Given the description of an element on the screen output the (x, y) to click on. 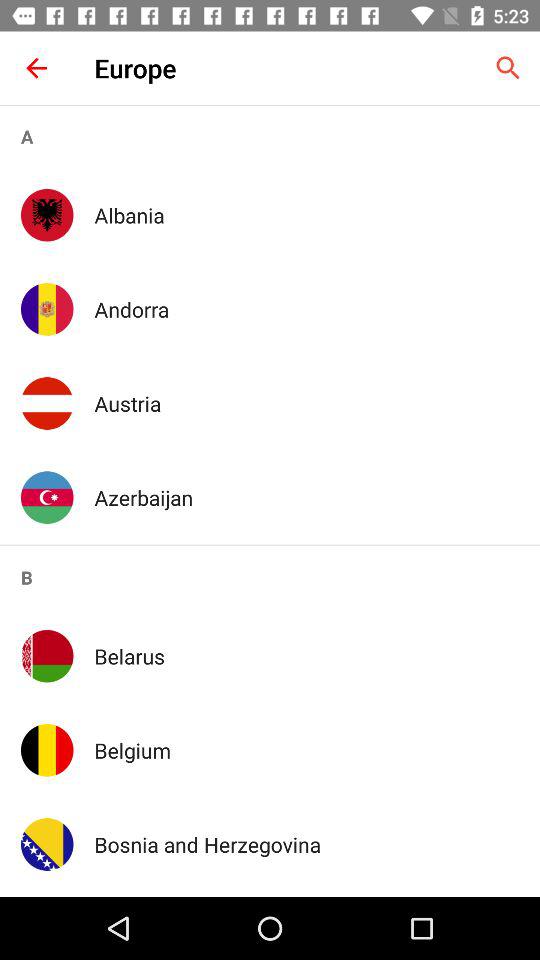
flip until azerbaijan (306, 497)
